Given the description of an element on the screen output the (x, y) to click on. 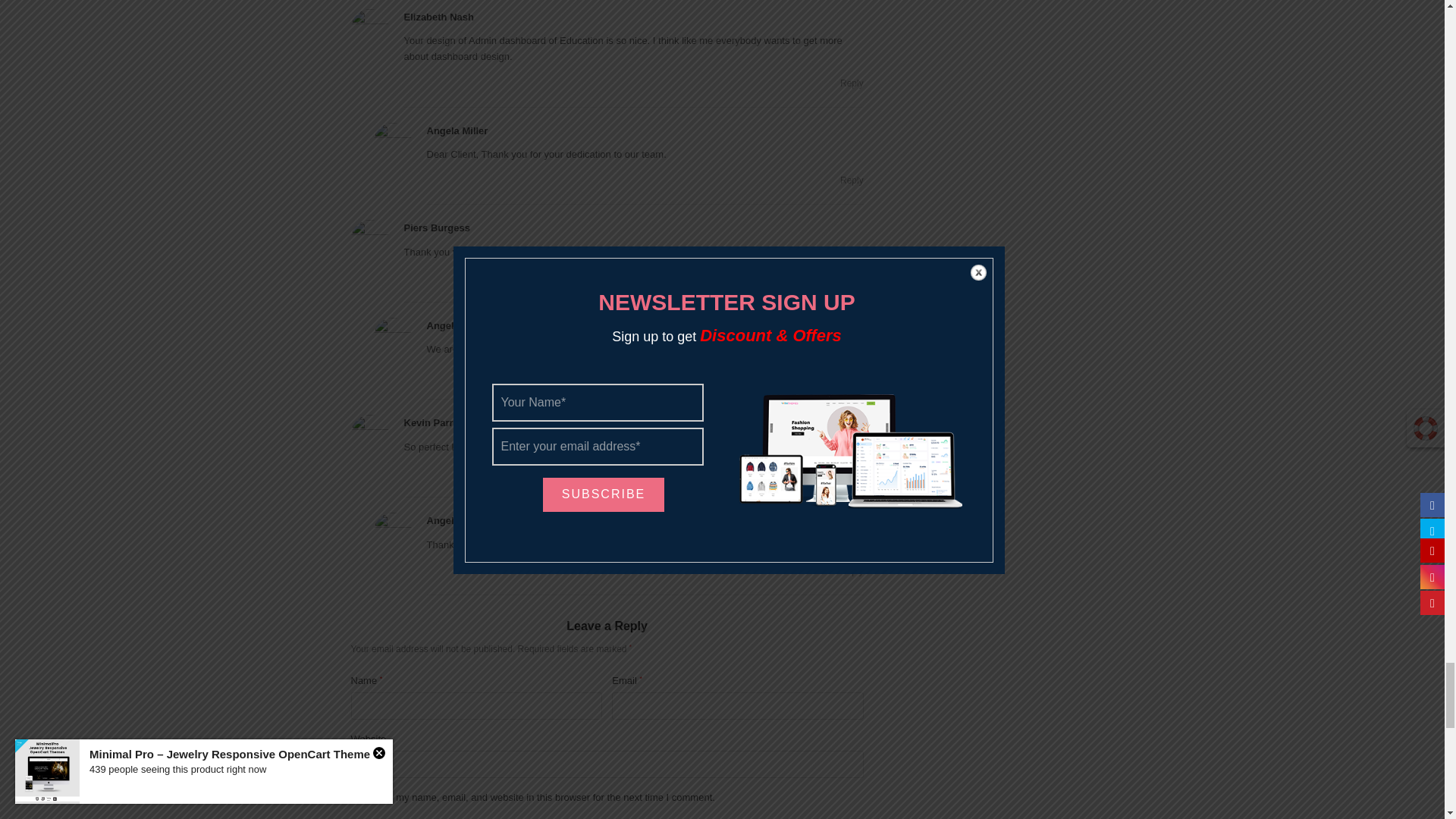
yes (354, 795)
